Given the description of an element on the screen output the (x, y) to click on. 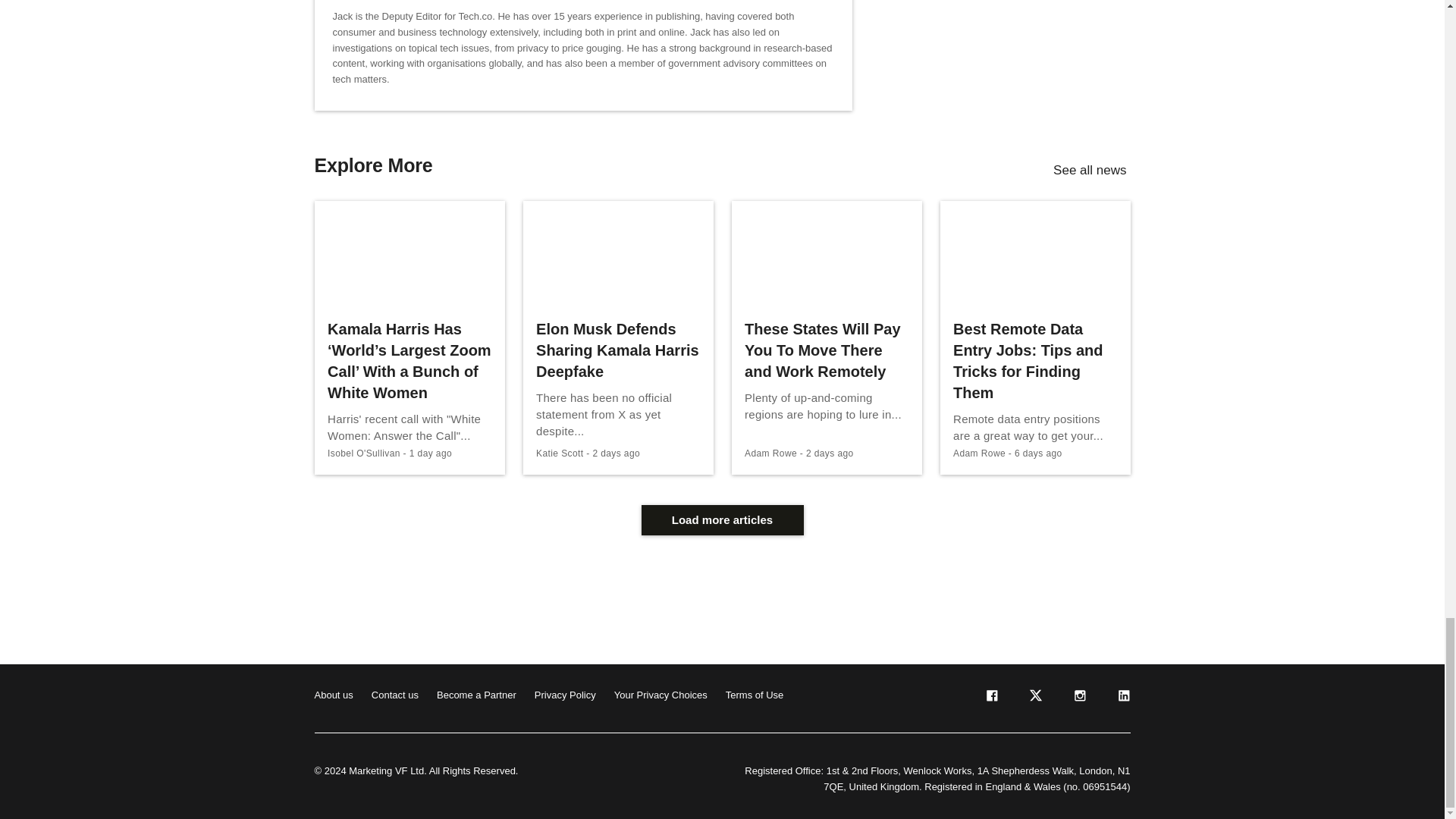
facebook (990, 698)
instagram (1078, 698)
linkedin (1122, 698)
twitter-x (1034, 698)
